Given the description of an element on the screen output the (x, y) to click on. 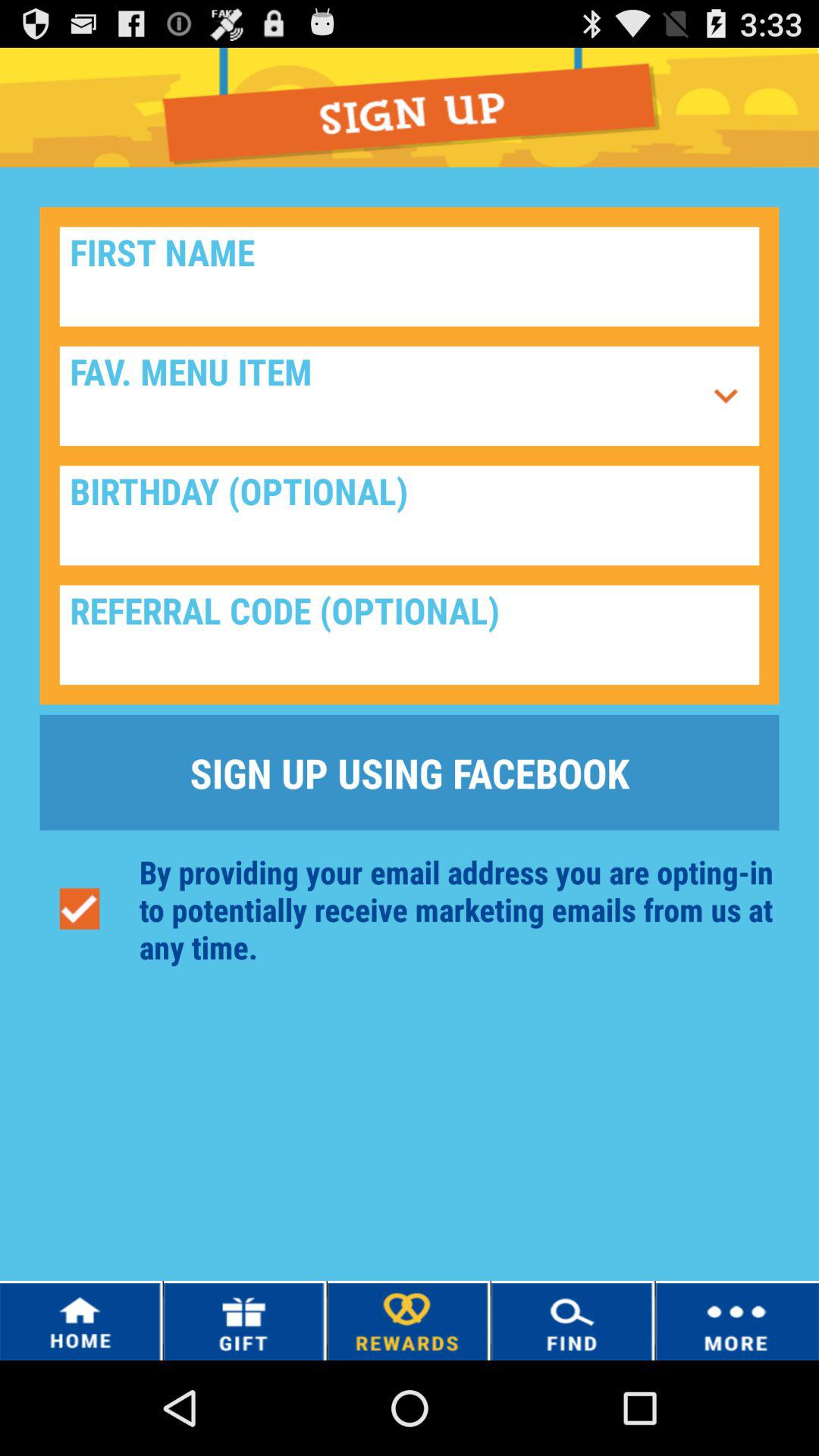
enter favorite menu item (380, 395)
